Given the description of an element on the screen output the (x, y) to click on. 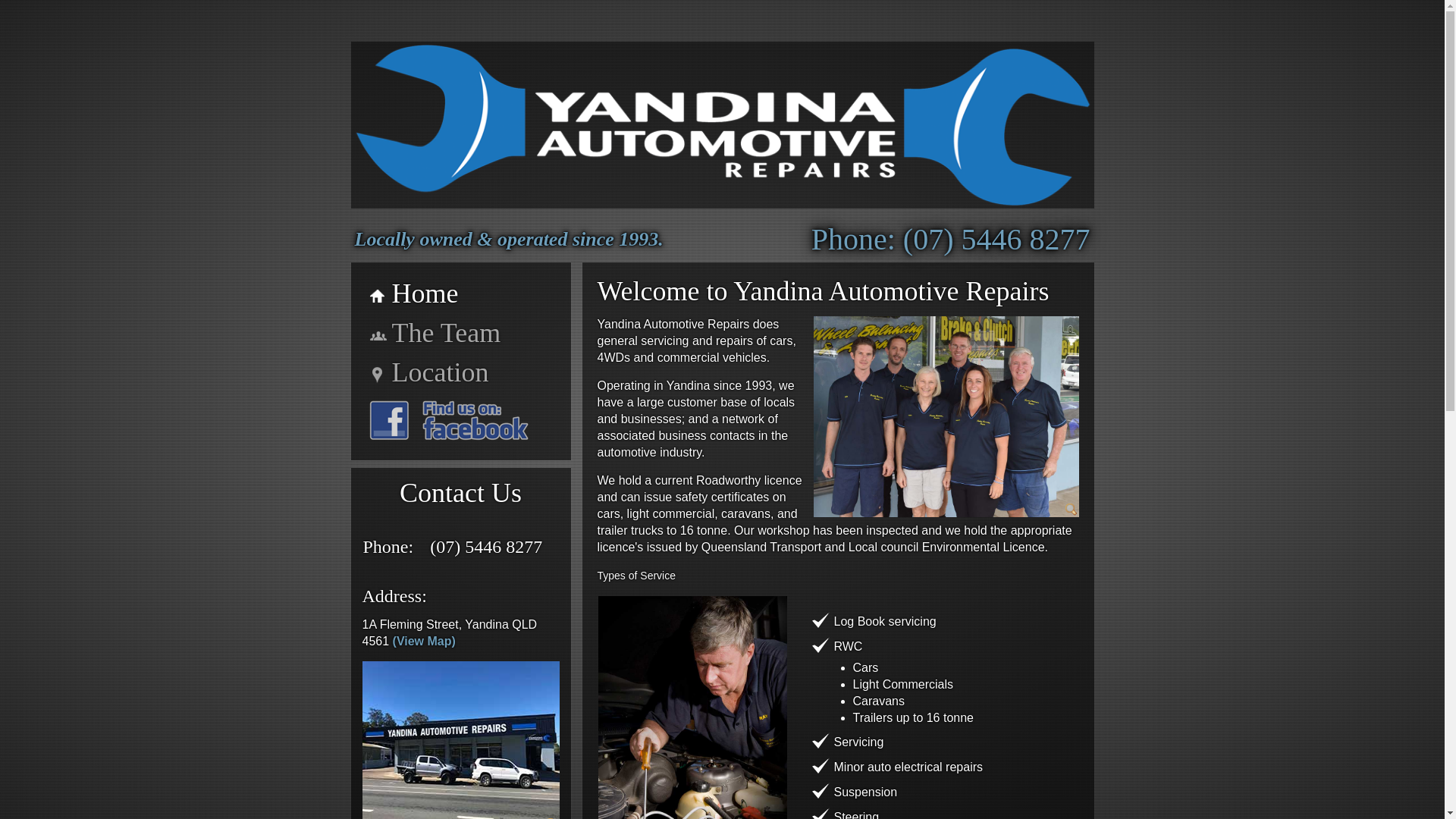
Location (460, 372)
Yandina Auto team out front (945, 416)
The Team (460, 332)
Phone now to make a booking (950, 238)
Home (460, 292)
